Given the description of an element on the screen output the (x, y) to click on. 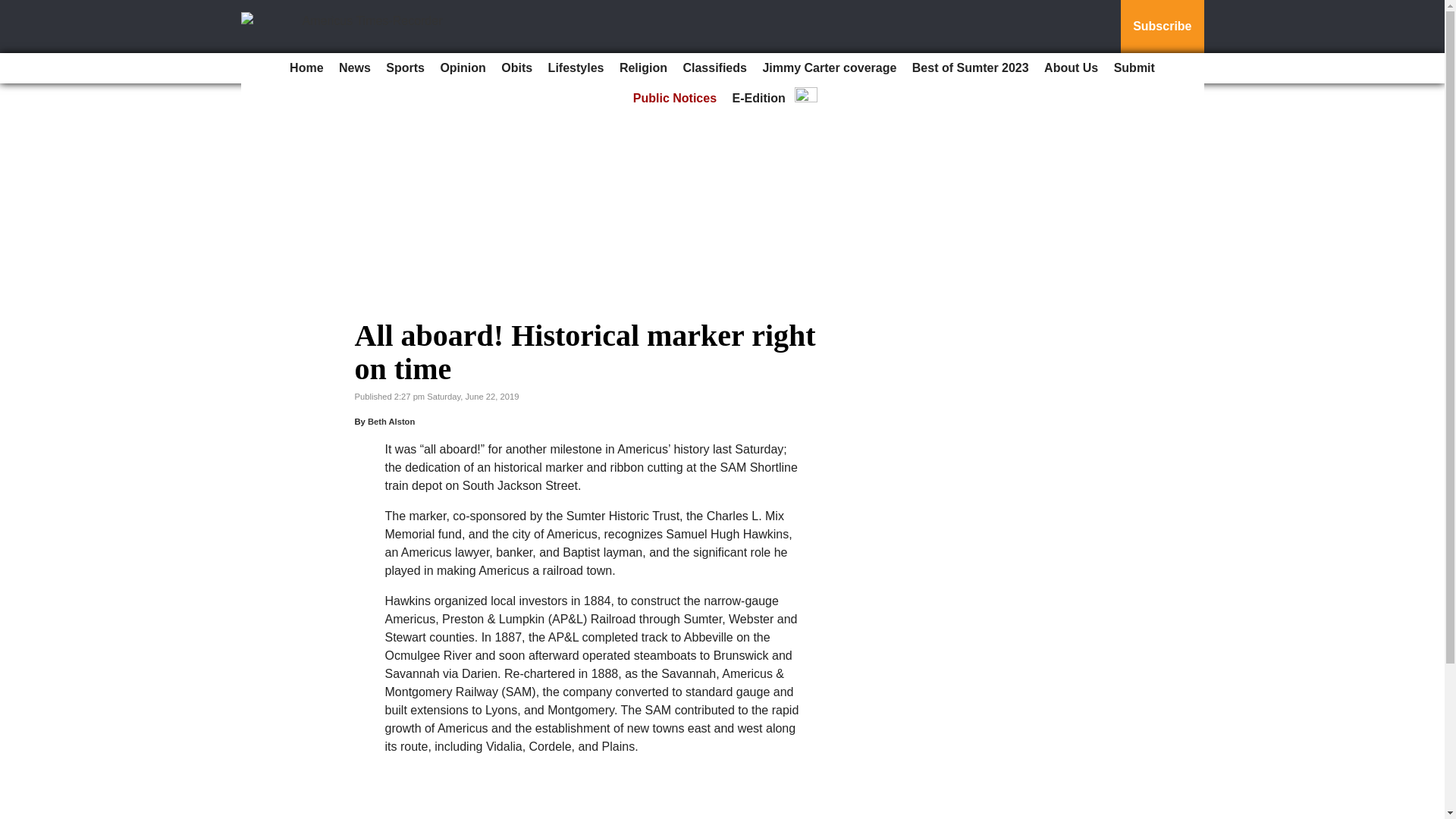
Go (13, 9)
Opinion (462, 68)
Sports (405, 68)
Home (306, 68)
Obits (516, 68)
Lifestyles (575, 68)
Religion (642, 68)
Public Notices (674, 98)
Beth Alston (391, 420)
Jimmy Carter coverage (828, 68)
